Given the description of an element on the screen output the (x, y) to click on. 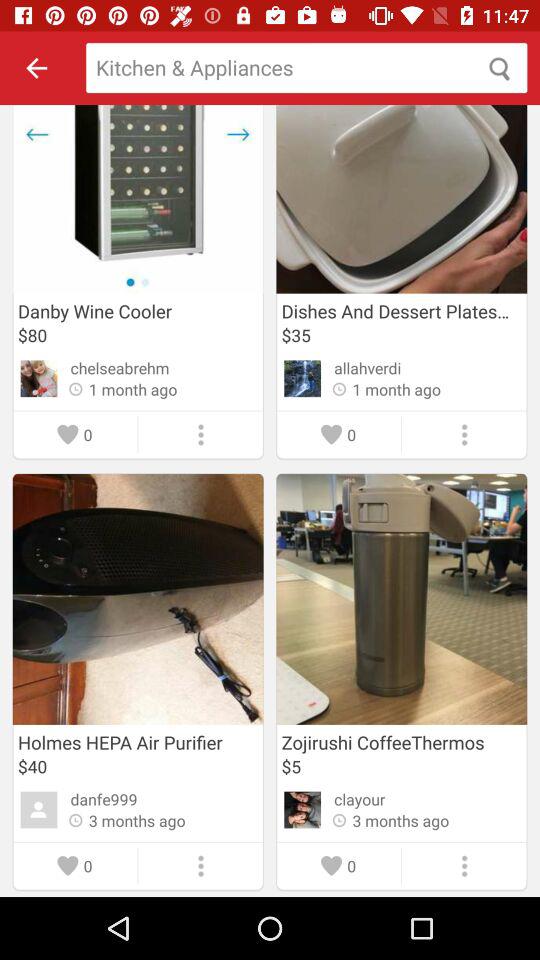
press the icon below the $40 item (103, 799)
